Given the description of an element on the screen output the (x, y) to click on. 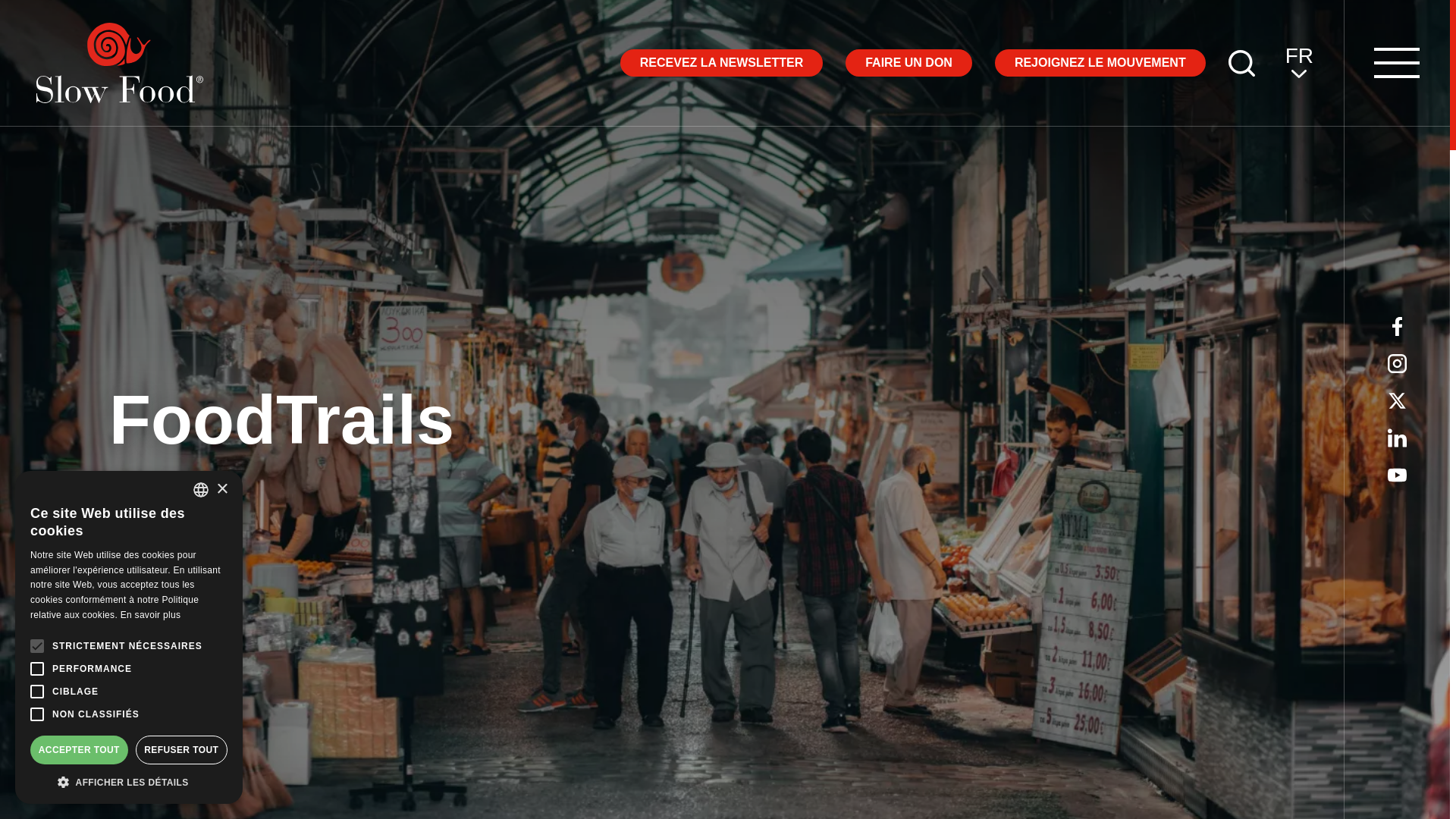
Follow us on Twiter (1396, 400)
Follow us on Youtube (1396, 436)
FAIRE UN DON (908, 62)
RECEVEZ LA NEWSLETTER (721, 62)
Slow Food (119, 62)
Follow us on Youtube (1396, 475)
REJOIGNEZ LE MOUVEMENT (1099, 62)
Follow us on Instagram (1396, 362)
